Given the description of an element on the screen output the (x, y) to click on. 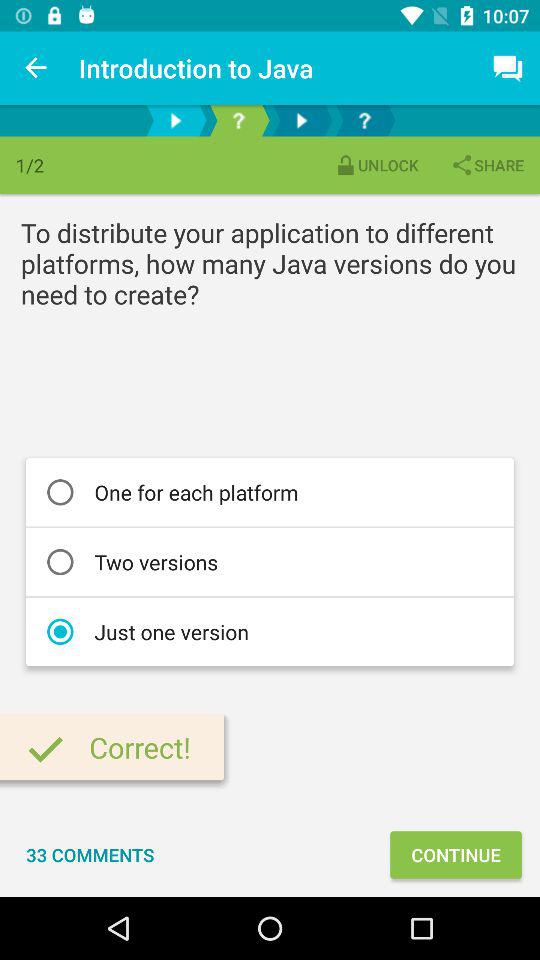
choose the continue (455, 854)
